Given the description of an element on the screen output the (x, y) to click on. 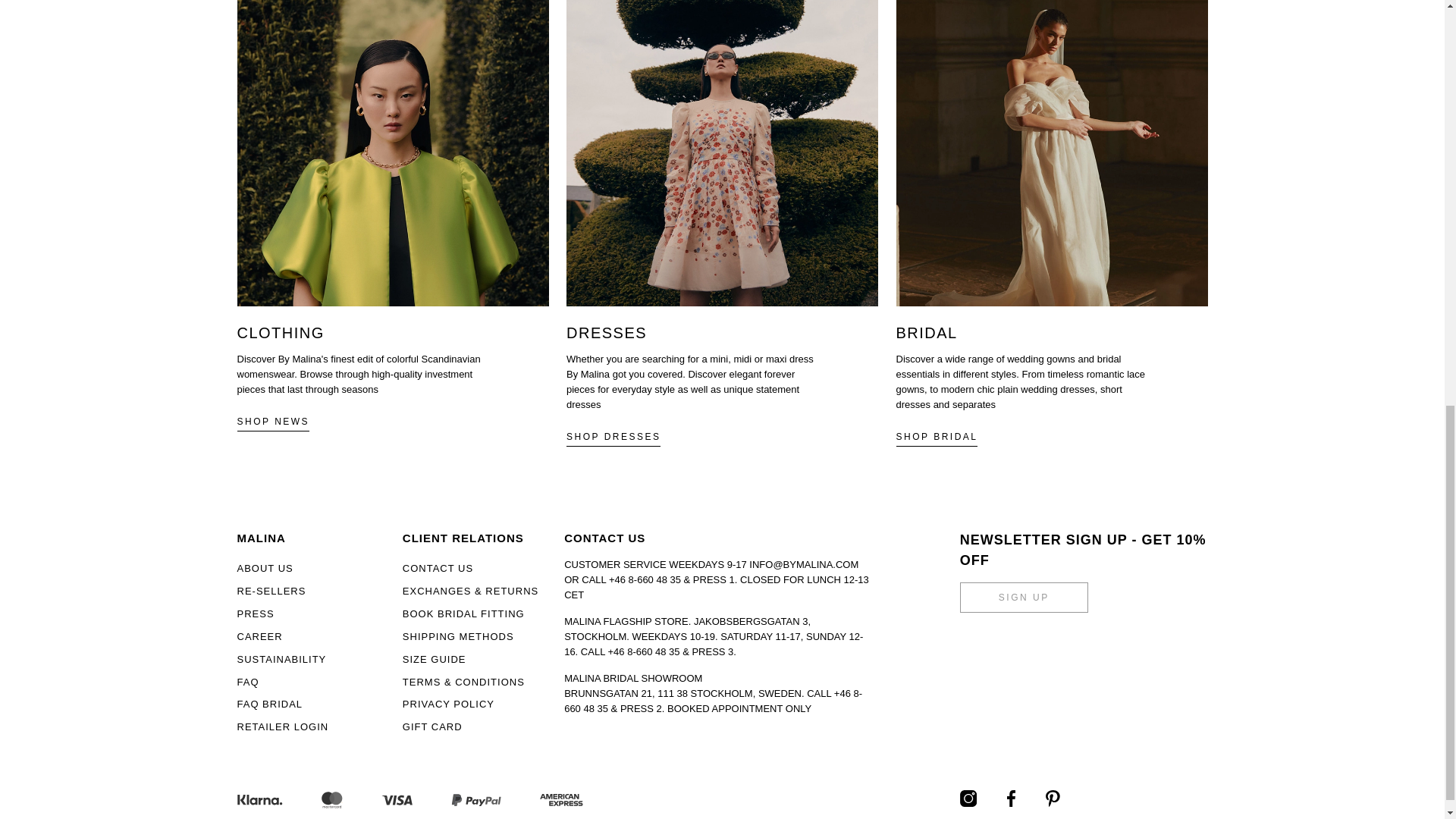
SHOP DRESSES (613, 436)
SUSTAINABILITY (280, 659)
PRESS (254, 613)
SHIPPING METHODS (458, 636)
FAQ (247, 681)
SHOP BRIDAL (937, 436)
RE-SELLERS (270, 591)
ABOUT US (263, 568)
RETAILER LOGIN (282, 726)
FAQ BRIDAL (268, 704)
